Given the description of an element on the screen output the (x, y) to click on. 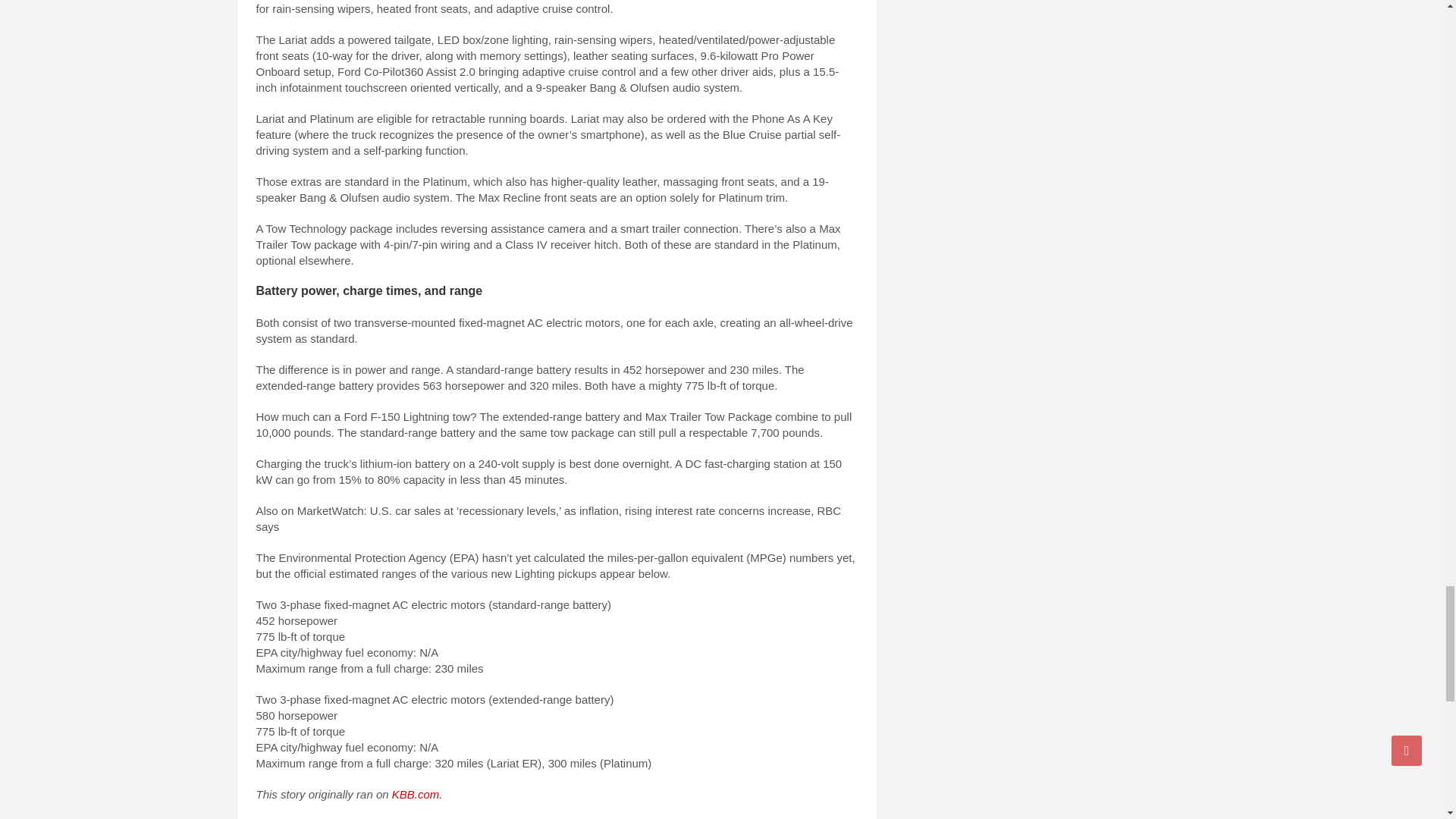
Austin Business Journal (745, 818)
KBB.com. (416, 793)
Amazon Business Credit Card (354, 818)
Att Business Login (639, 818)
